Given the description of an element on the screen output the (x, y) to click on. 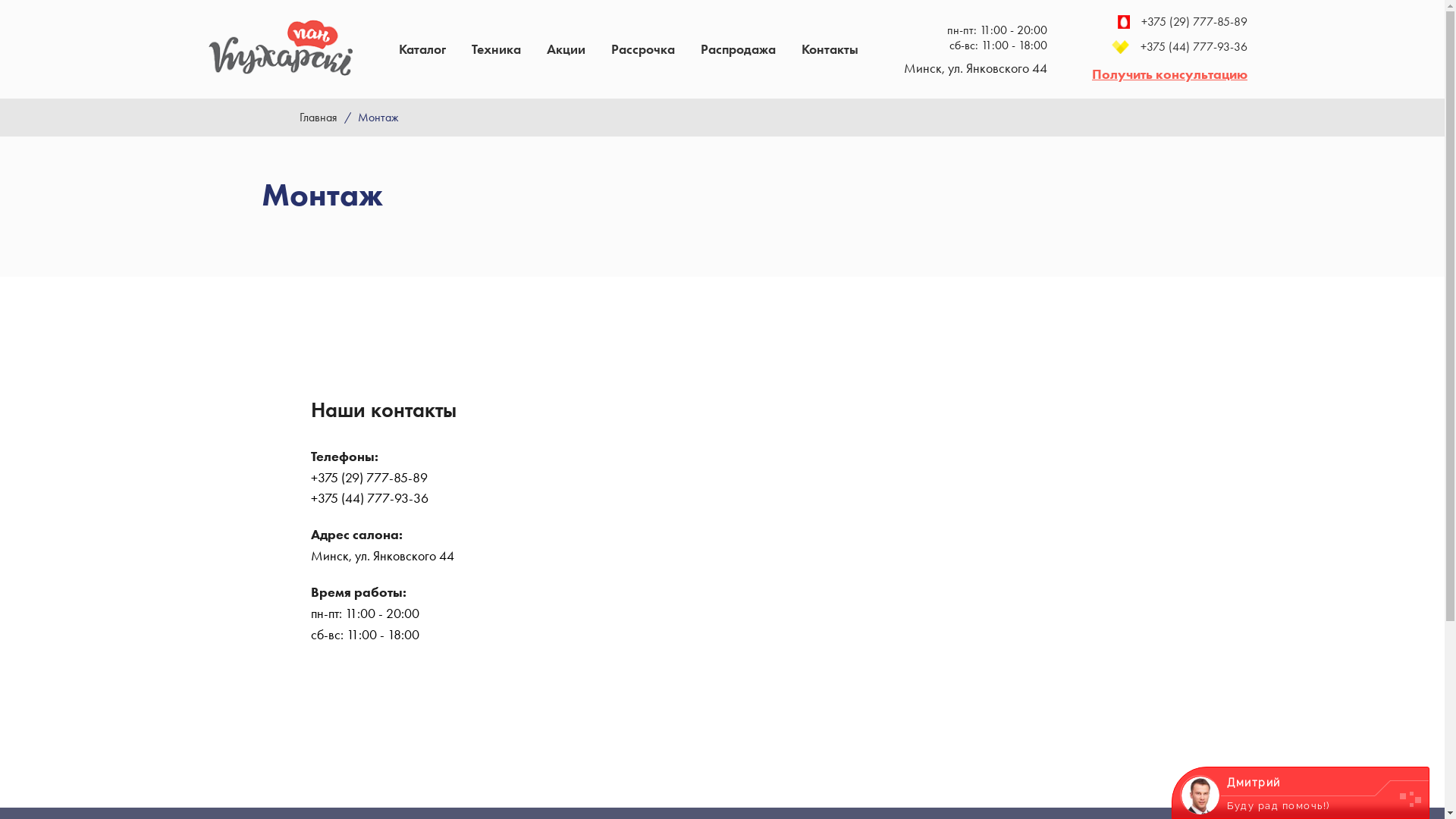
+375 (44) 777-93-36 Element type: text (1169, 46)
+375 (29) 777-85-89 Element type: text (1169, 21)
+375 (29) 777-85-89 Element type: text (368, 477)
+375 (44) 777-93-36 Element type: text (369, 497)
